Given the description of an element on the screen output the (x, y) to click on. 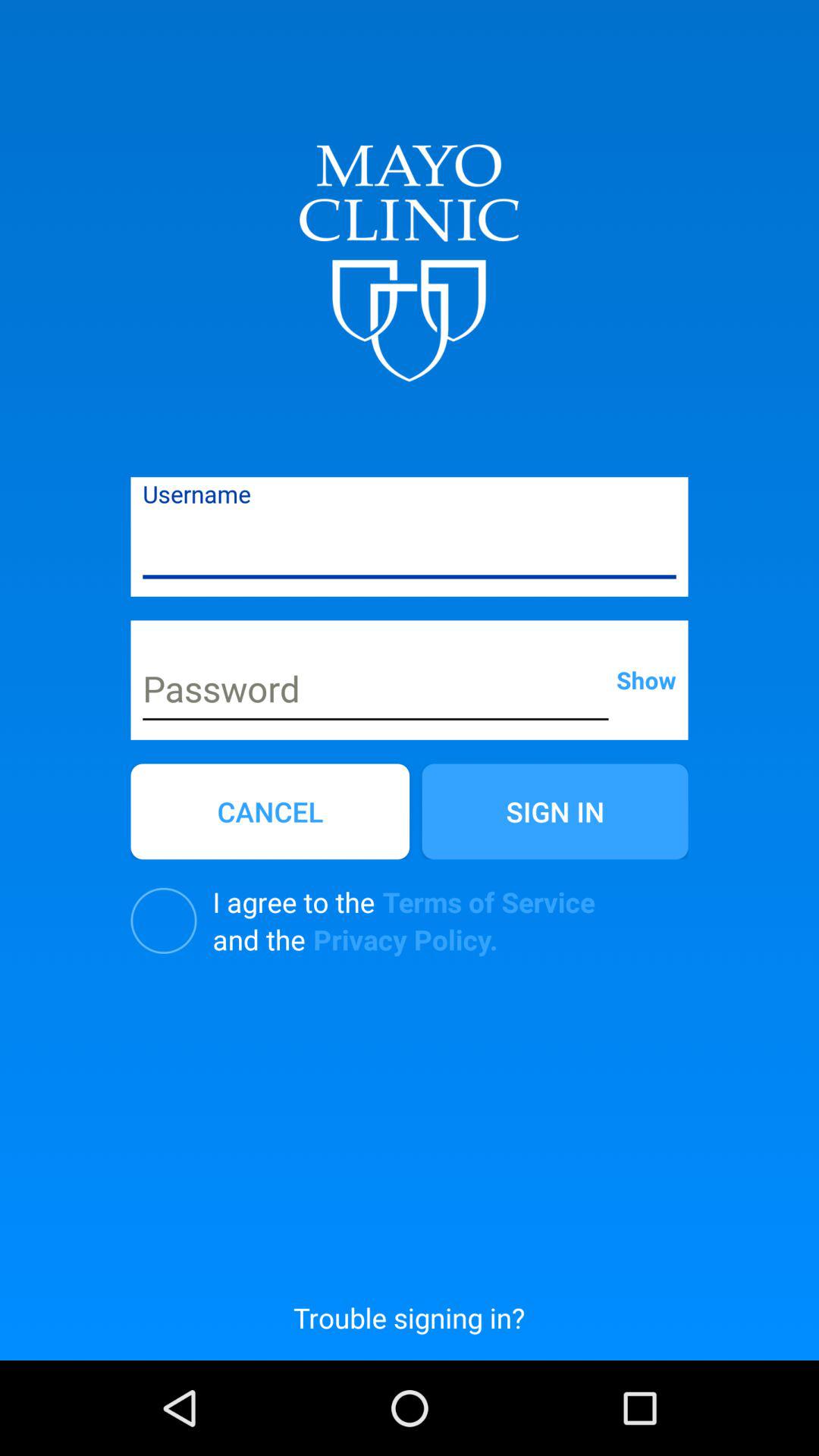
agree to terms of service (163, 920)
